Given the description of an element on the screen output the (x, y) to click on. 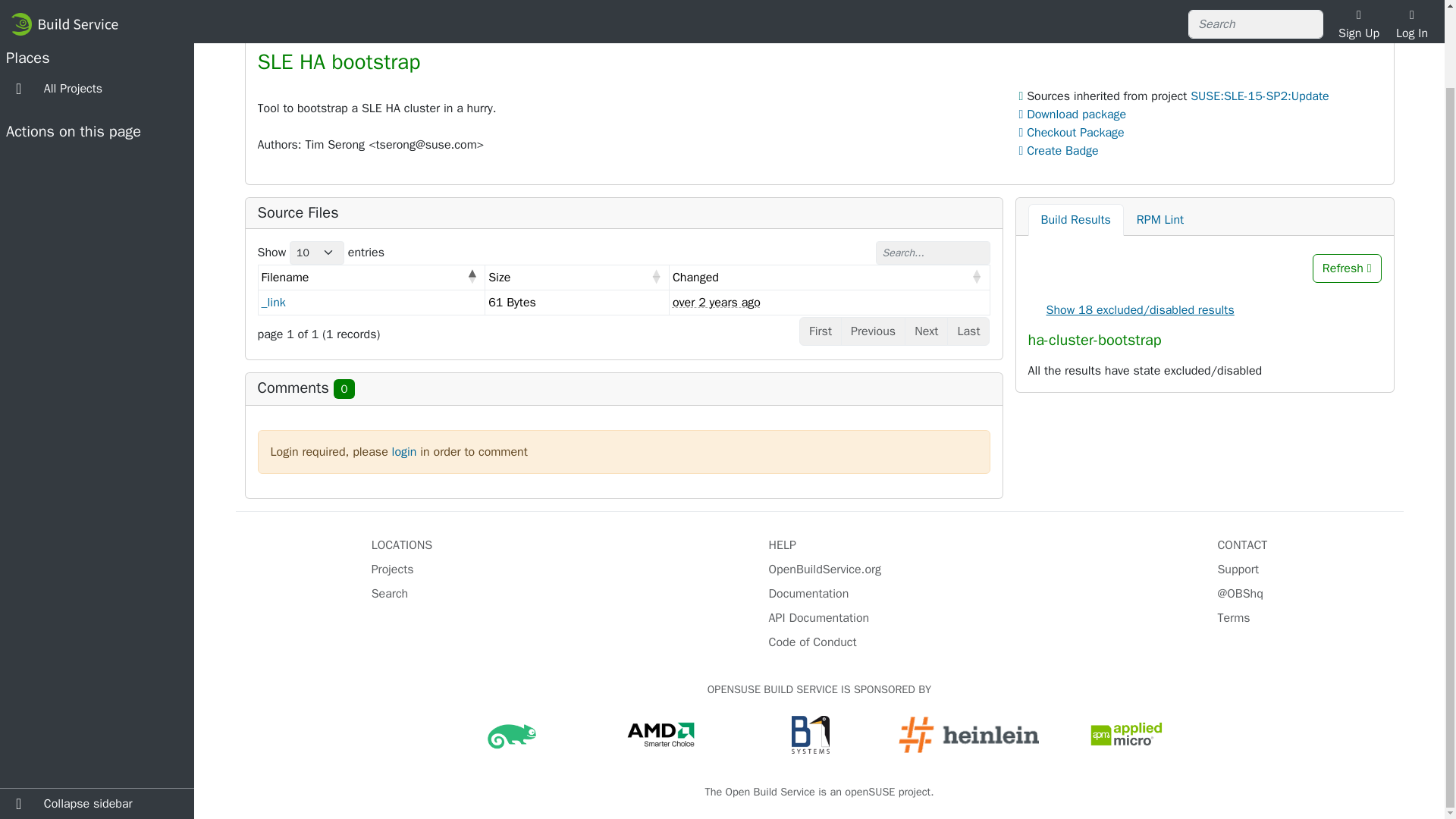
2022-01-03 07:26 UTC (716, 302)
Overview (819, 18)
Collapse sidebar (96, 716)
Overview (293, 20)
Refresh Build Results (1347, 267)
We provide Knowledge and Experience (969, 734)
Next (925, 330)
Enterprise Linux you can rely on. (511, 734)
Previous (873, 330)
Overview (293, 20)
